Given the description of an element on the screen output the (x, y) to click on. 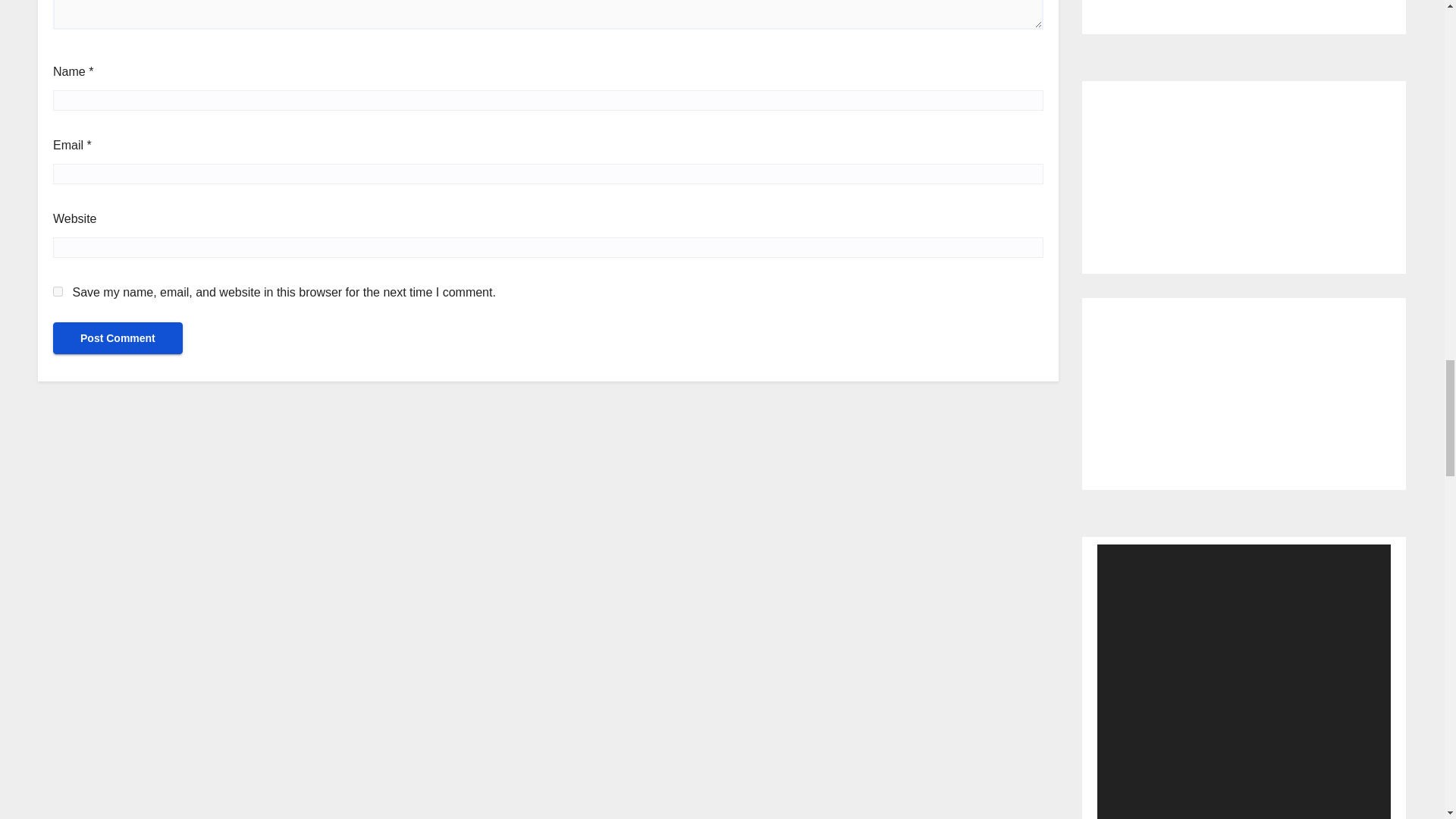
yes (57, 291)
Post Comment (117, 337)
